Given the description of an element on the screen output the (x, y) to click on. 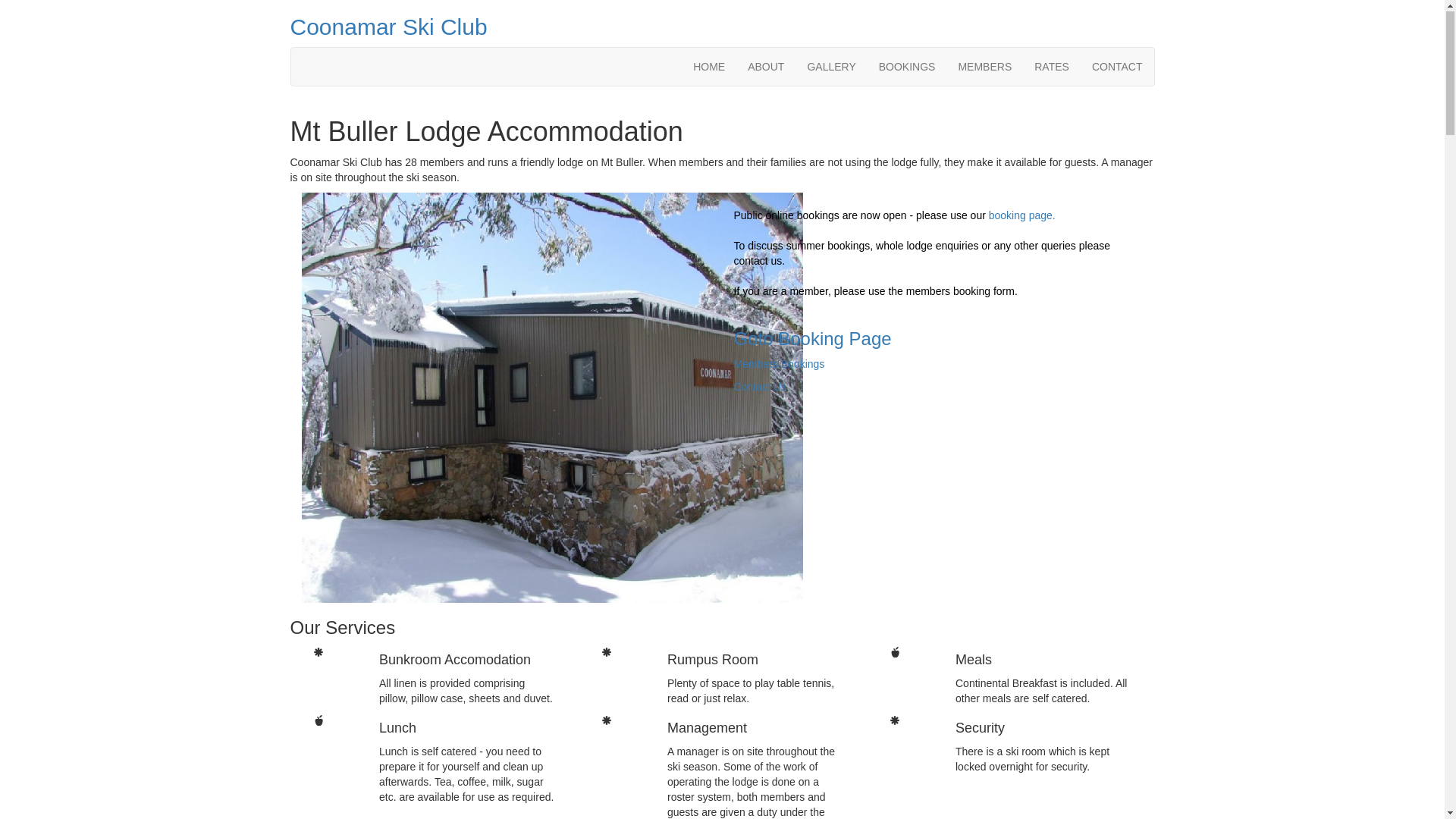
HOME Element type: text (708, 67)
Members Bookings Element type: text (779, 364)
ABOUT Element type: text (765, 67)
CONTACT Element type: text (1117, 67)
RATES Element type: text (1051, 67)
Contact Us Element type: text (760, 387)
booking page. Element type: text (1021, 216)
Goto Booking Page Element type: text (812, 339)
Coonamar Ski Club Element type: text (721, 27)
MEMBERS Element type: text (984, 67)
GALLERY Element type: text (830, 67)
BOOKINGS Element type: text (907, 67)
